Given the description of an element on the screen output the (x, y) to click on. 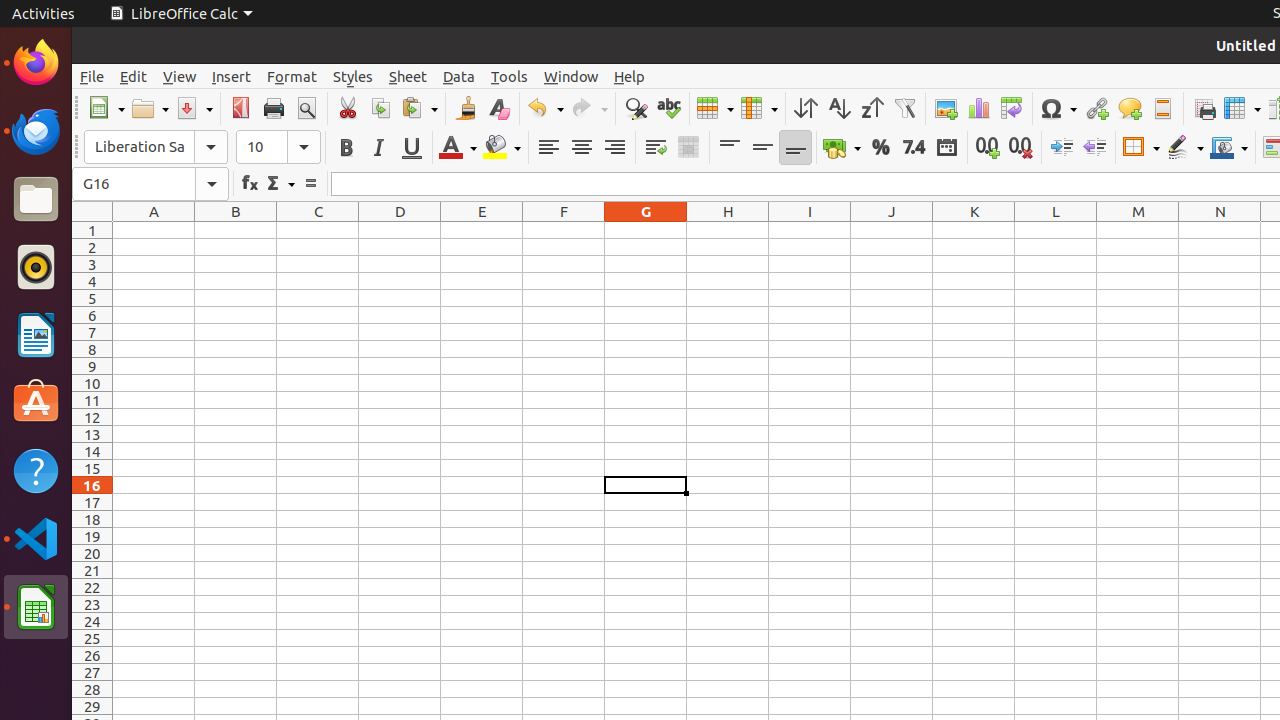
Hyperlink Element type: toggle-button (1096, 108)
I1 Element type: table-cell (810, 230)
LibreOffice Calc Element type: push-button (36, 607)
Chart Element type: push-button (978, 108)
